Given the description of an element on the screen output the (x, y) to click on. 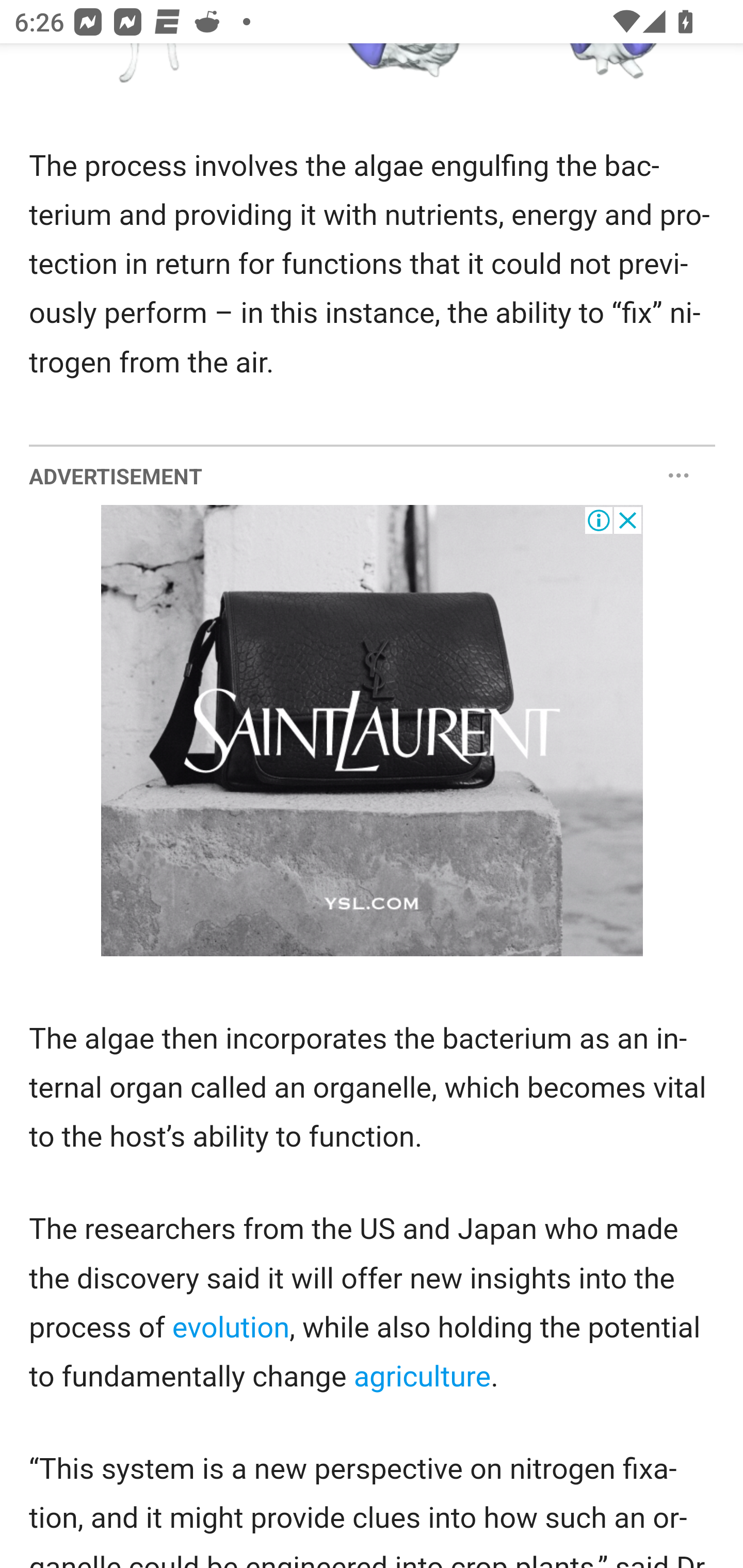
evolution (230, 1327)
agriculture (421, 1376)
